Given the description of an element on the screen output the (x, y) to click on. 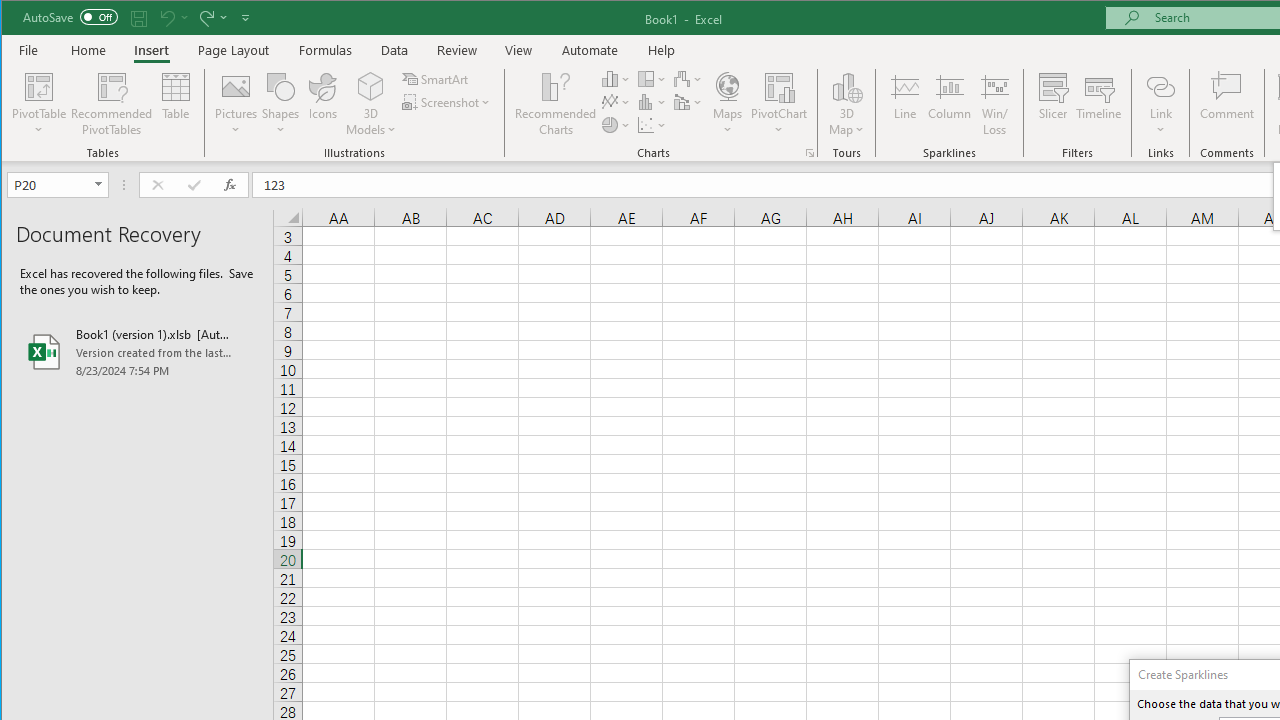
PivotChart (779, 86)
3D Map (846, 104)
Insert Hierarchy Chart (652, 78)
Maps (727, 104)
Line (904, 104)
Insert Waterfall, Funnel, Stock, Surface, or Radar Chart (688, 78)
Screenshot (447, 101)
Pictures (235, 104)
